Given the description of an element on the screen output the (x, y) to click on. 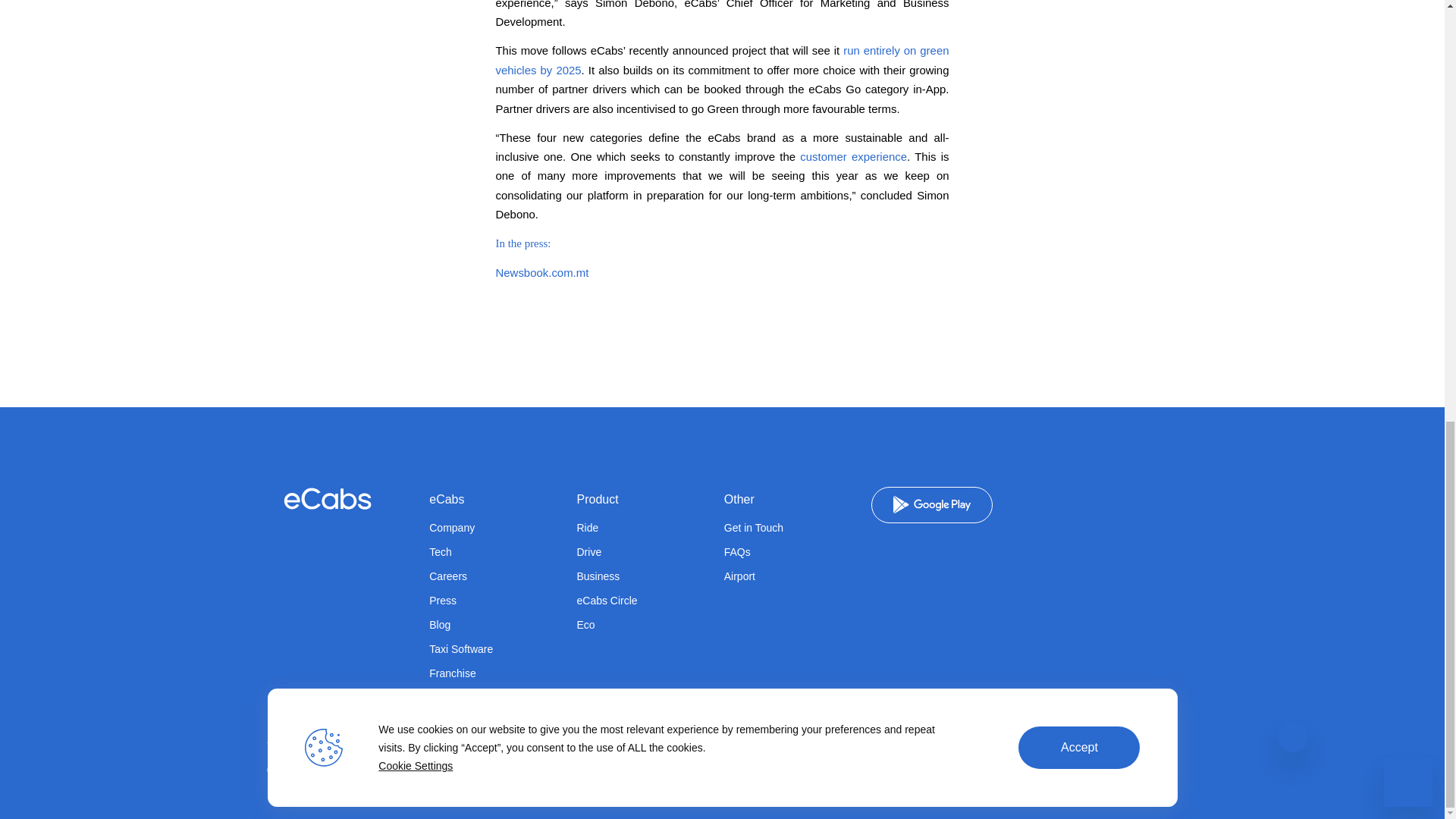
run entirely on green vehicles by 2025 (722, 60)
